Given the description of an element on the screen output the (x, y) to click on. 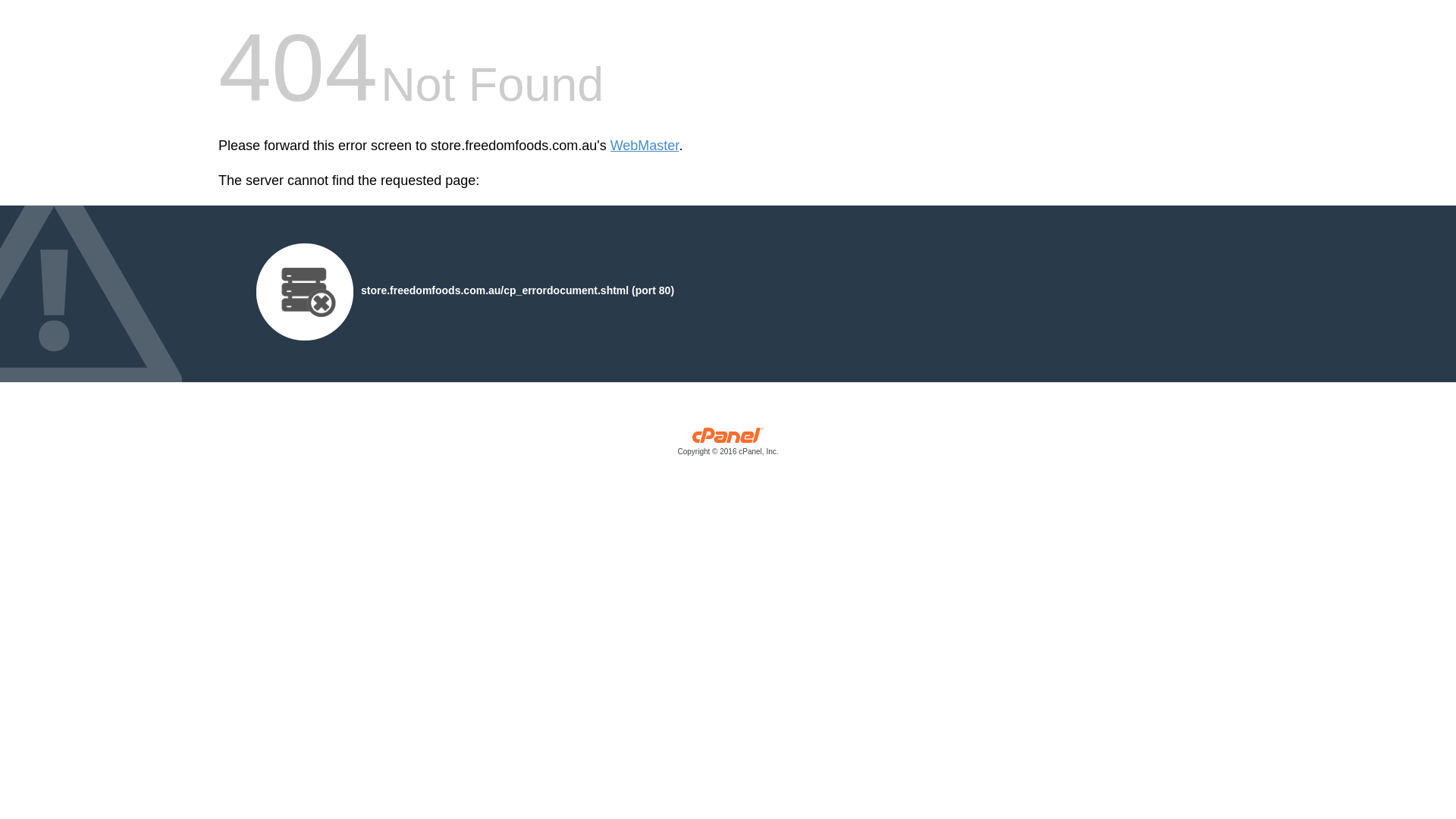
WebMaster Element type: text (644, 145)
